Given the description of an element on the screen output the (x, y) to click on. 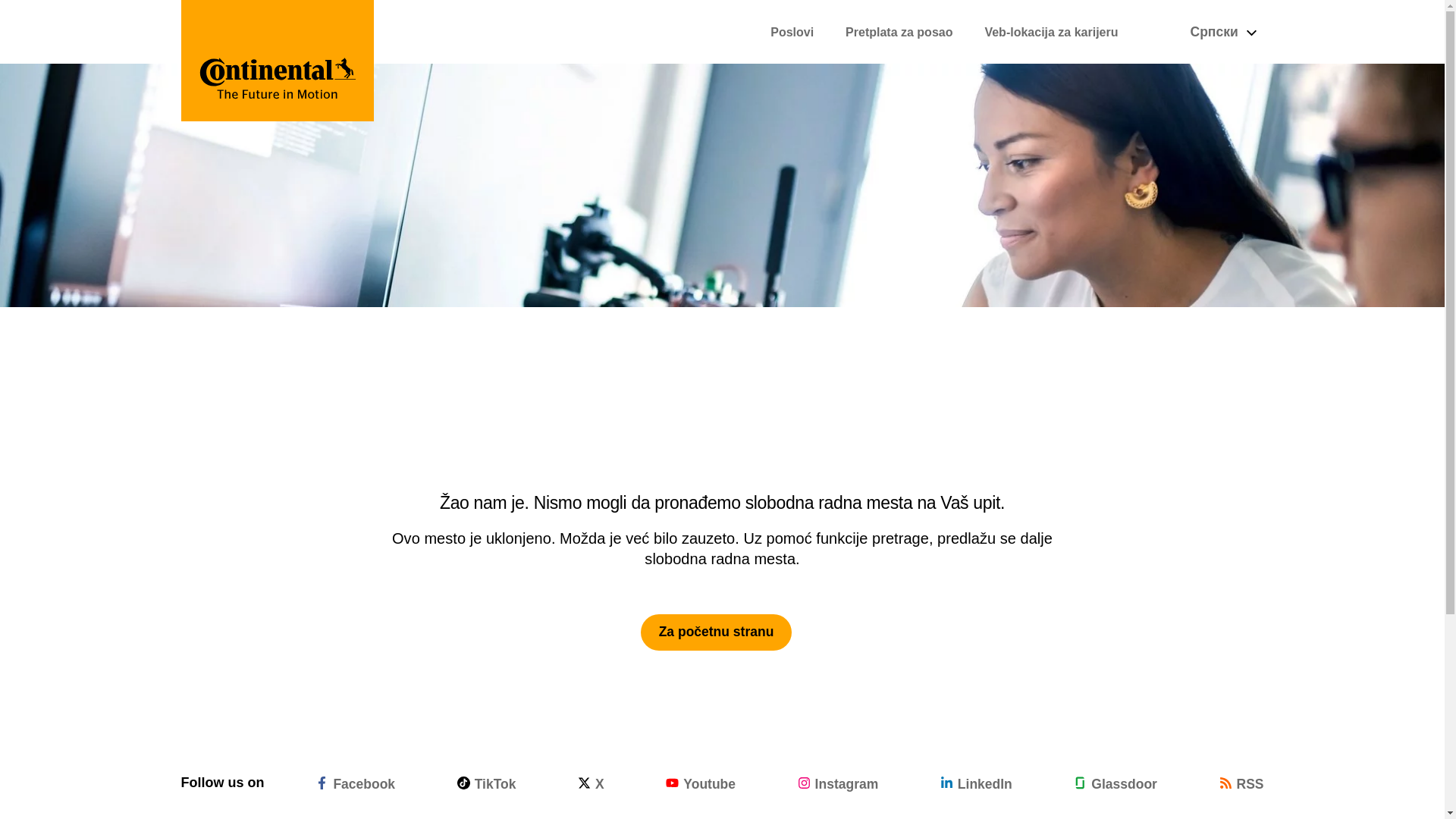
Pretplata za posao (898, 32)
Veb-lokacija za karijeru (1050, 32)
RSS (1241, 782)
Youtube (700, 782)
Continental AG (277, 60)
X (591, 782)
Facebook (354, 782)
TikTok (486, 782)
TikTok (486, 782)
LinkedIn (975, 782)
